Given the description of an element on the screen output the (x, y) to click on. 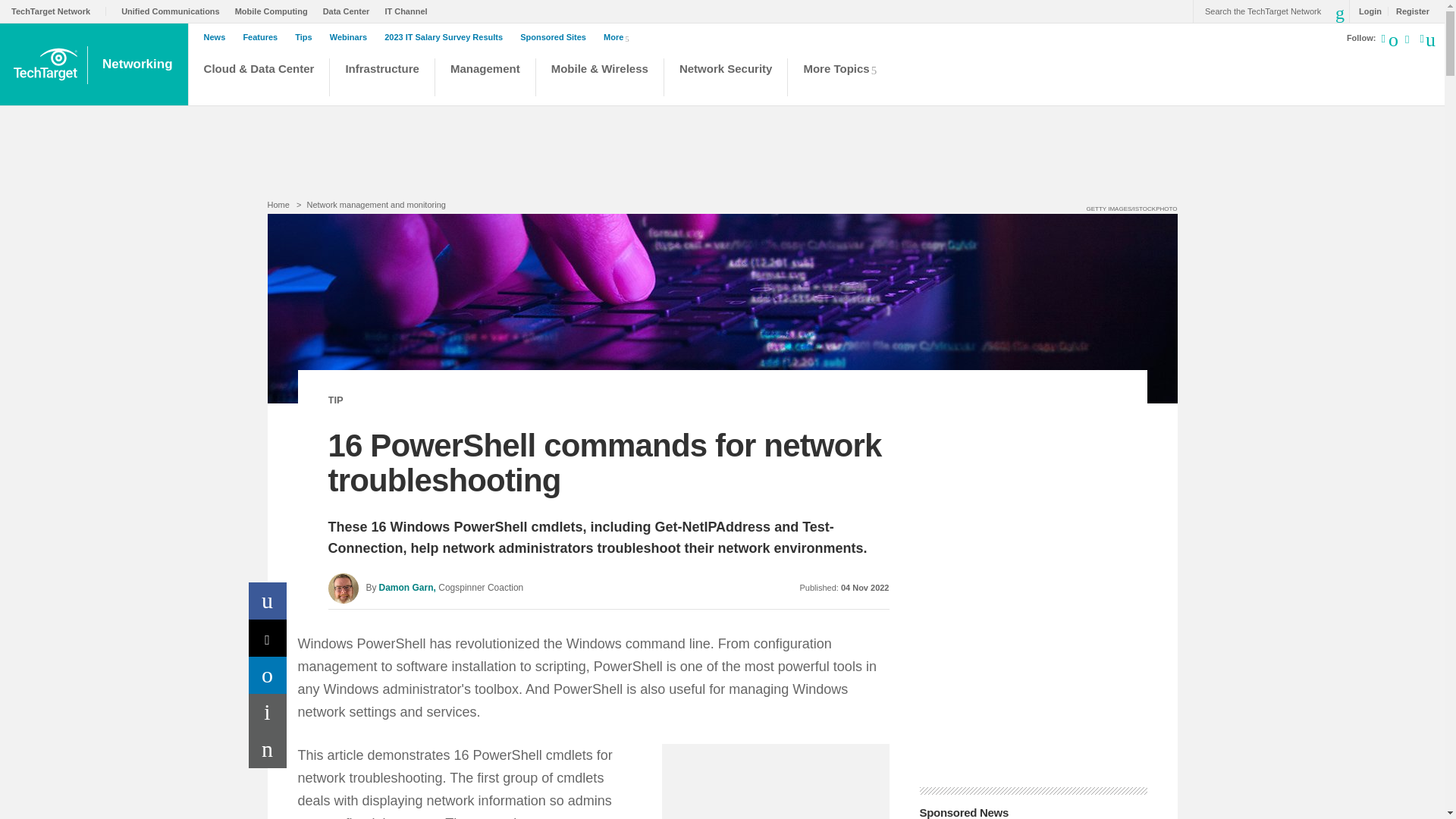
Tips (306, 36)
Networking (138, 64)
Unified Communications (173, 10)
News (217, 36)
More Topics (844, 79)
Features (264, 36)
Management (484, 79)
Share on LinkedIn (267, 674)
Webinars (352, 36)
Register (1408, 10)
